Given the description of an element on the screen output the (x, y) to click on. 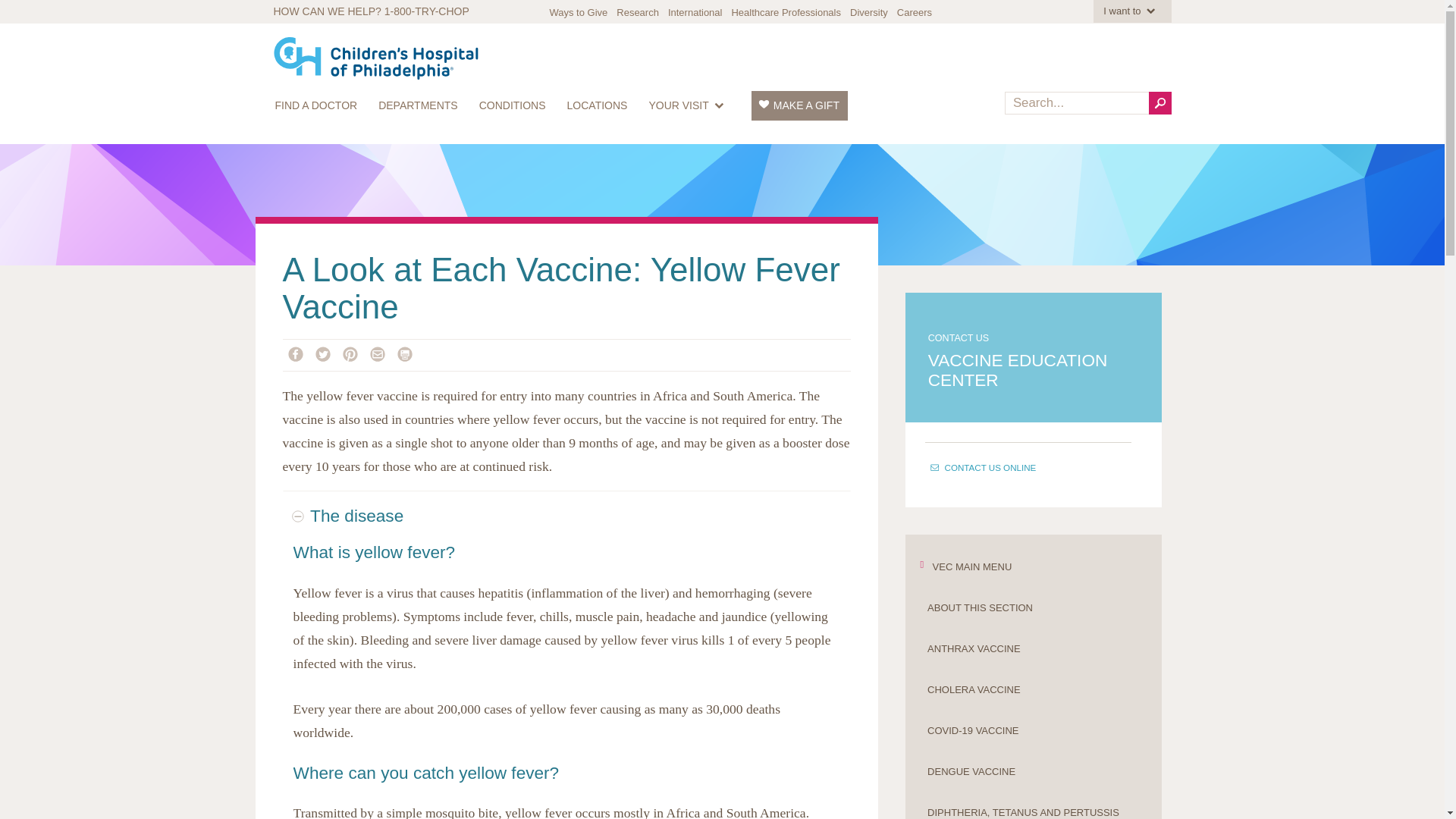
Healthcare Professionals (785, 12)
1-800-TRY-CHOP (426, 10)
Careers (913, 12)
Your visit... action links (689, 105)
Tweet (326, 353)
Send email (379, 353)
Comprehensive listing of CHOP's programs and services (418, 104)
I want to (1131, 11)
Search (1159, 102)
Pin it (354, 353)
Ways to Give (577, 12)
Research (637, 12)
International (695, 12)
I want to... action links (1131, 11)
Diversity (869, 12)
